Given the description of an element on the screen output the (x, y) to click on. 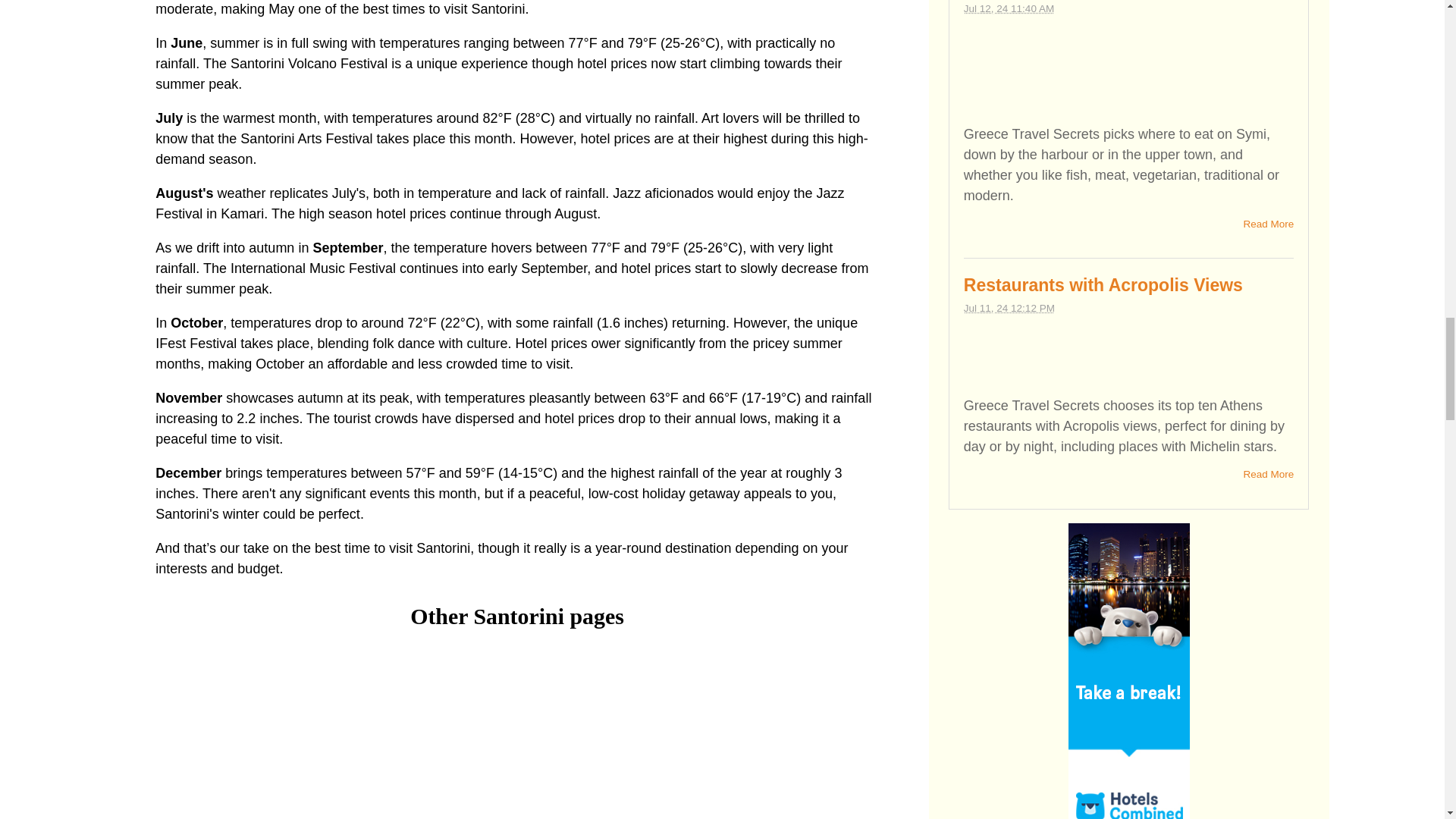
2024-07-11T12:12:13-0400 (1008, 307)
2024-07-12T11:40:04-0400 (1008, 8)
